Given the description of an element on the screen output the (x, y) to click on. 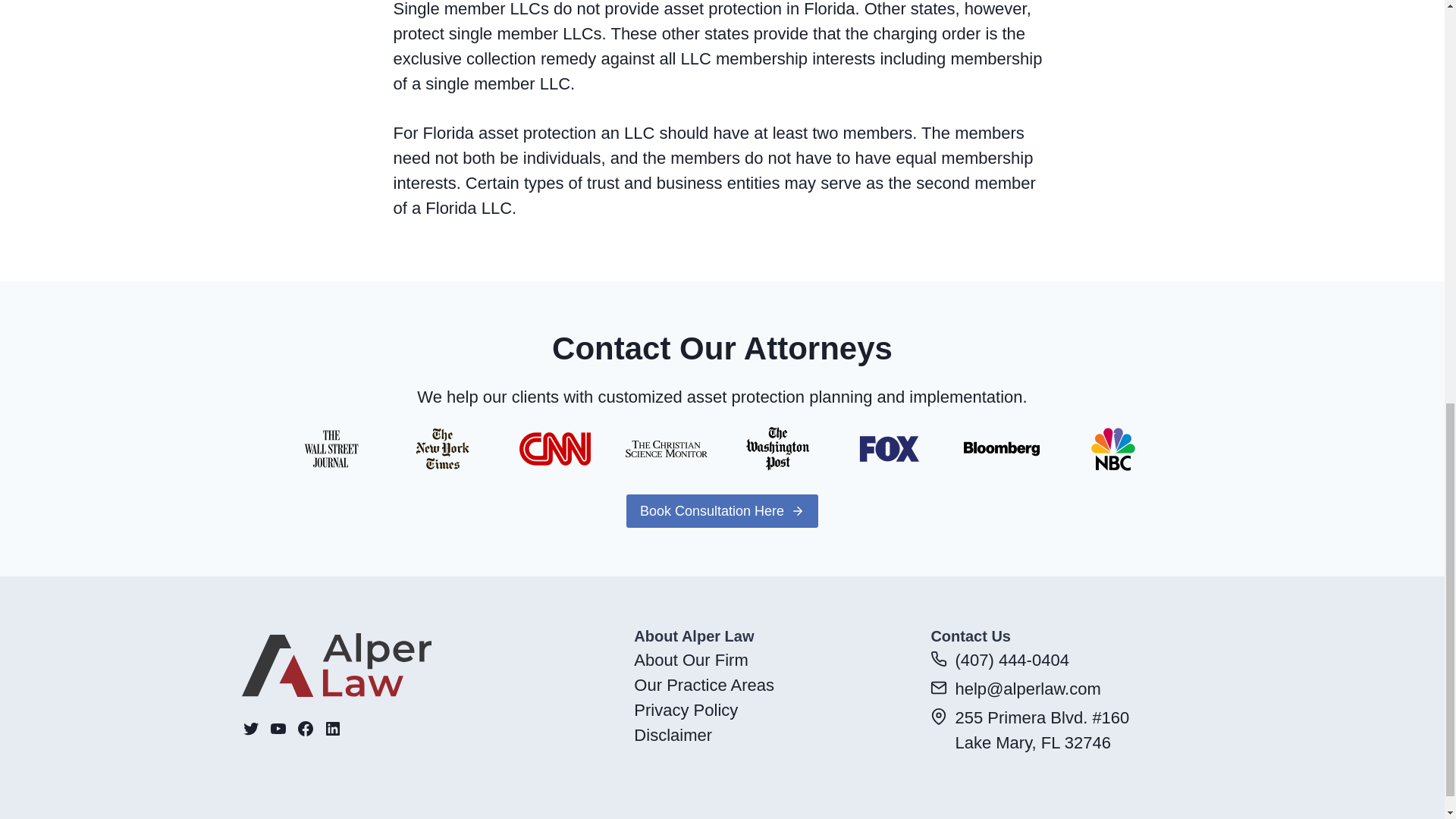
Disclaimer (672, 734)
Twitter (250, 728)
Facebook (304, 728)
LinkedIn (331, 728)
Book Consultation Here (722, 510)
Privacy Policy (685, 710)
About Our Firm (690, 659)
YouTube (276, 728)
Our Practice Areas (703, 684)
